Given the description of an element on the screen output the (x, y) to click on. 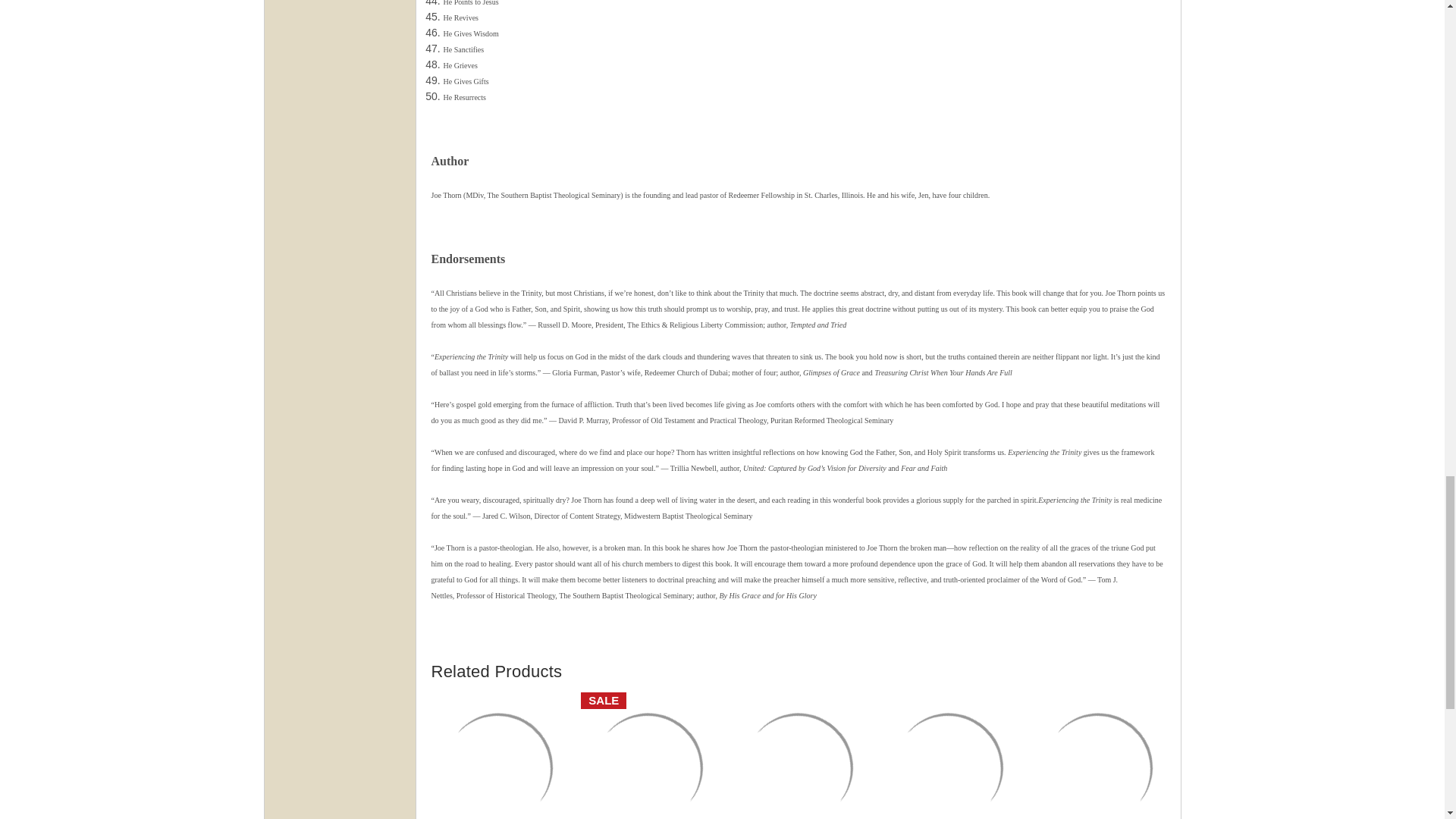
Grace Essentials: Living with the Living God (797, 755)
